Given the description of an element on the screen output the (x, y) to click on. 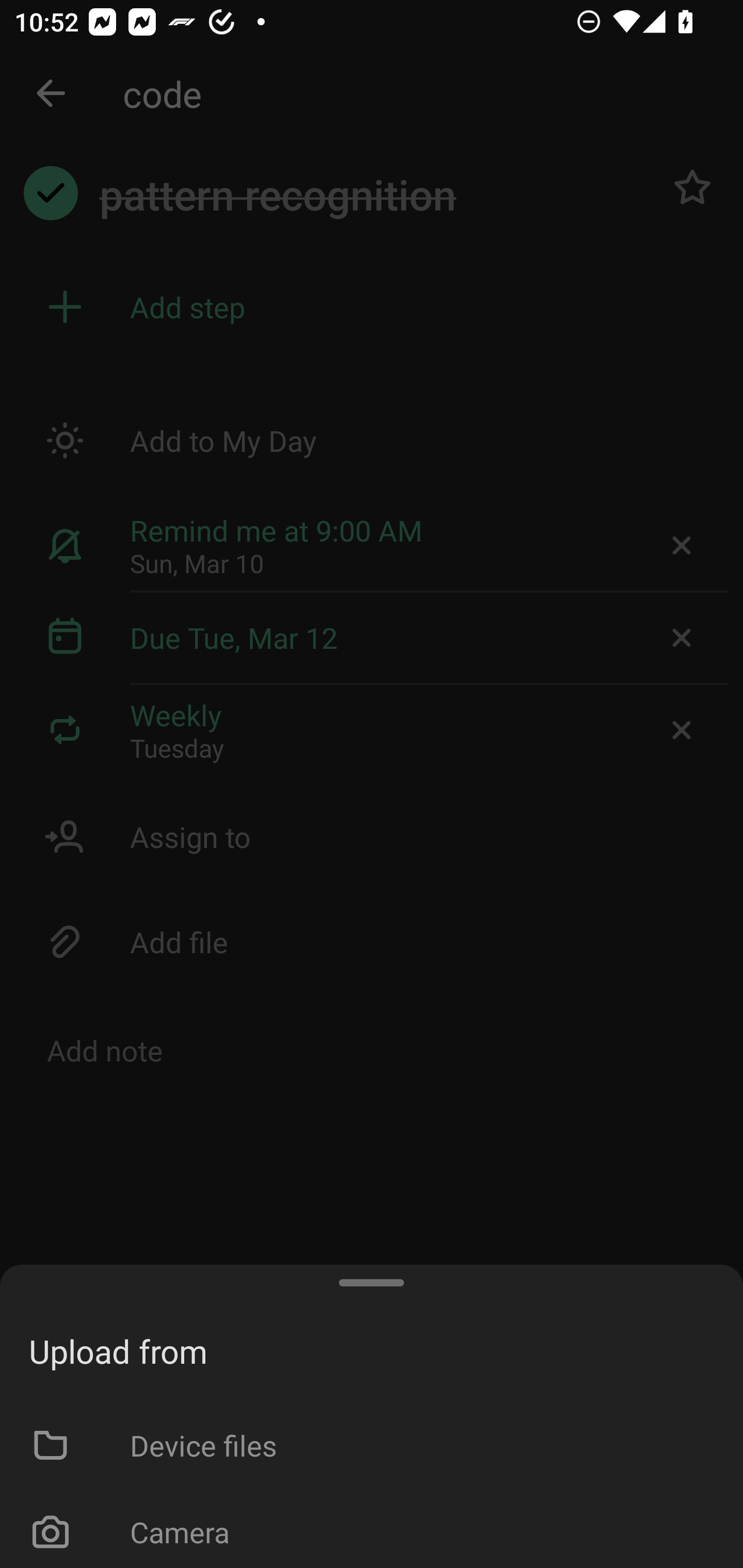
Device files (371, 1444)
Camera (371, 1528)
